Given the description of an element on the screen output the (x, y) to click on. 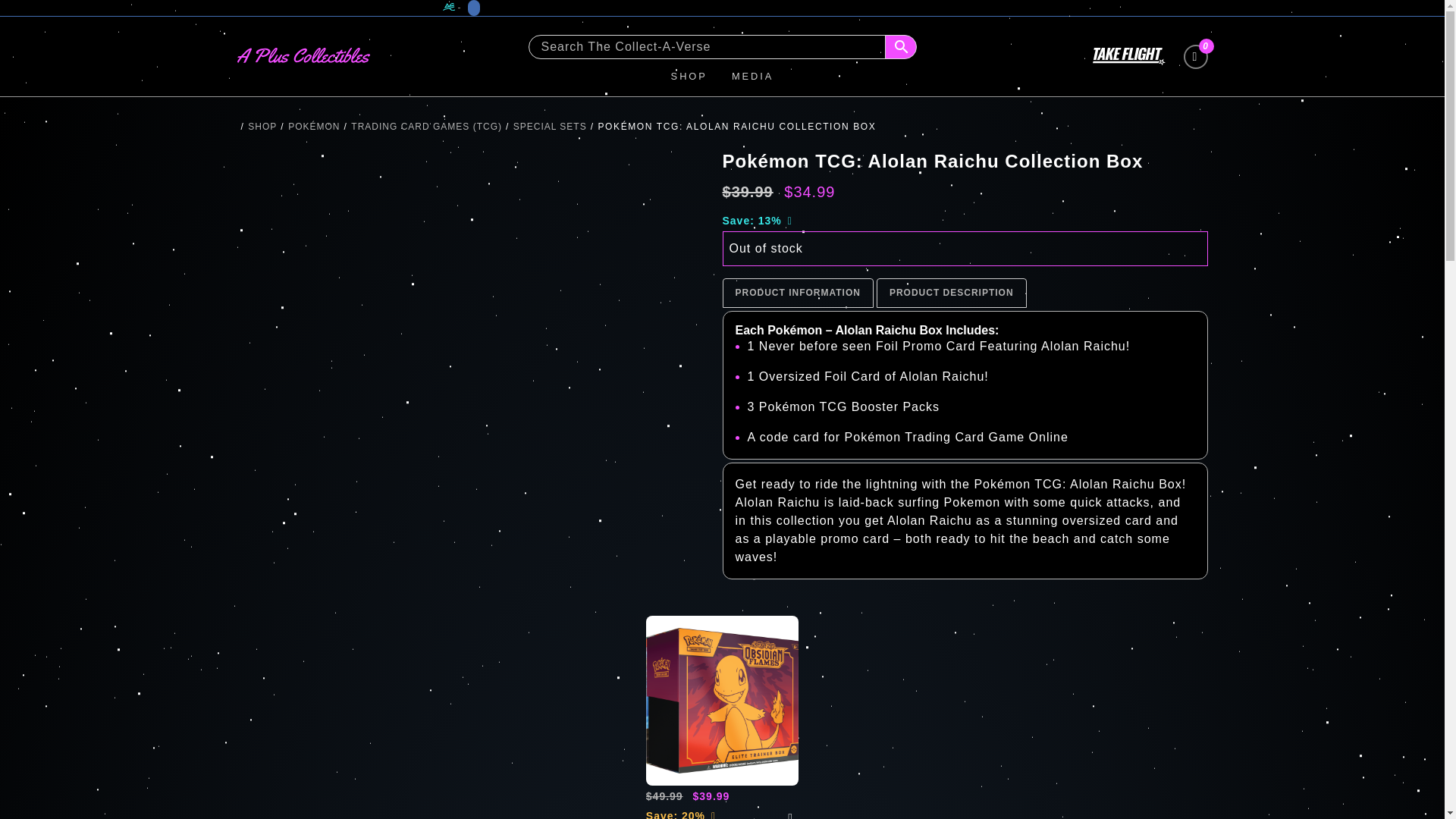
SPECIAL SETS (549, 126)
MEDIA (753, 76)
SHOP (261, 126)
PRODUCT DESCRIPTION (951, 293)
SHOP (689, 76)
0 (1194, 56)
PRODUCT INFORMATION (797, 293)
